Given the description of an element on the screen output the (x, y) to click on. 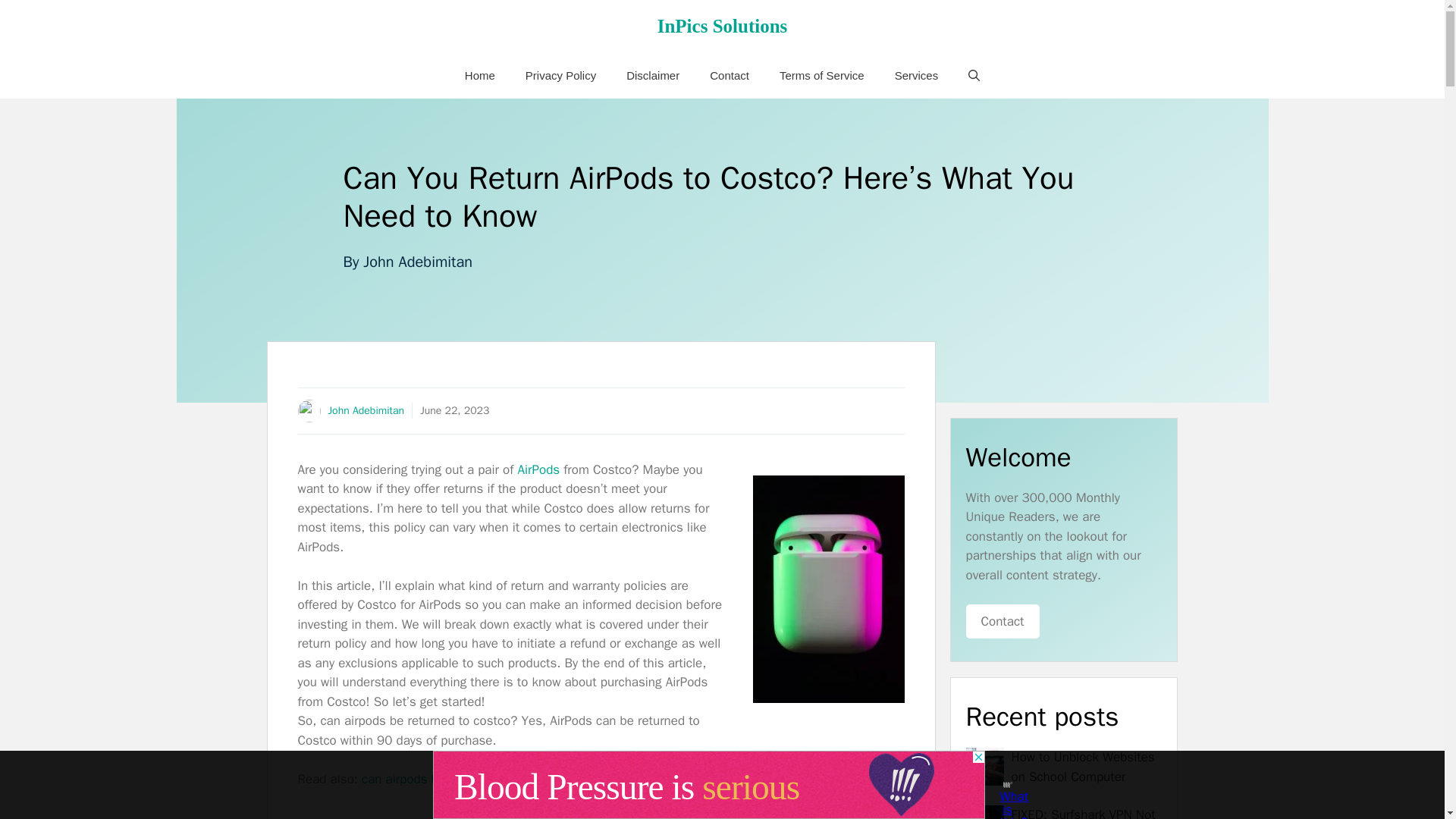
John Adebimitan (416, 261)
Terms of Service (821, 75)
Contact (729, 75)
InPics Solutions (722, 25)
can airpods be bugged? (428, 779)
Privacy Policy (561, 75)
Home (480, 75)
3rd party ad content (708, 785)
Disclaimer (652, 75)
AirPods (537, 469)
John Adebimitan (365, 410)
Services (916, 75)
